Given the description of an element on the screen output the (x, y) to click on. 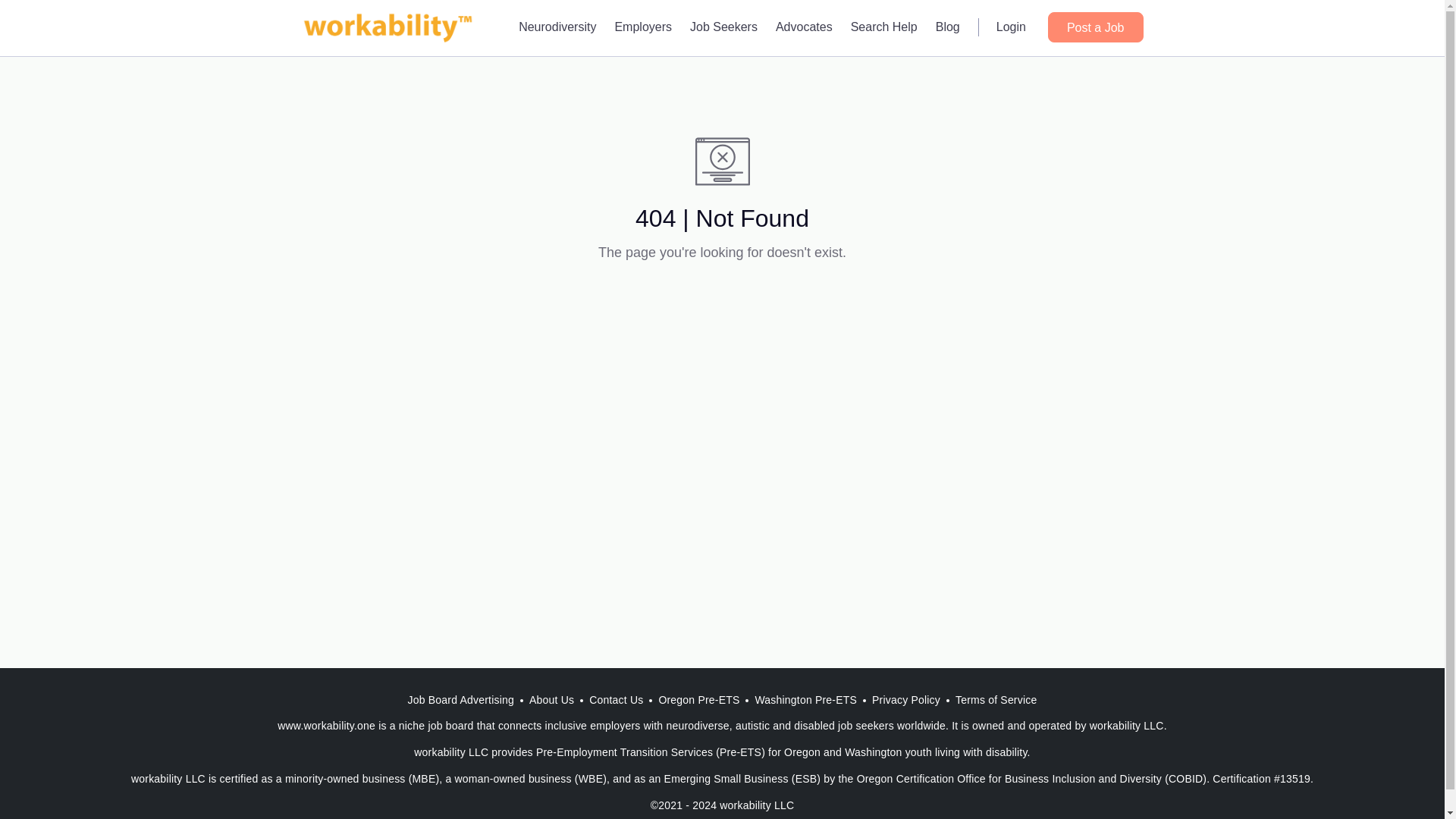
Search Help (883, 26)
Job Board Advertising (460, 700)
Post a Job (1095, 27)
Login (1011, 26)
About Us (550, 700)
Washington Pre-ETS (805, 700)
Terms of Service (995, 700)
Privacy Policy (905, 700)
Neurodiversity (557, 26)
Contact Us (615, 700)
